Given the description of an element on the screen output the (x, y) to click on. 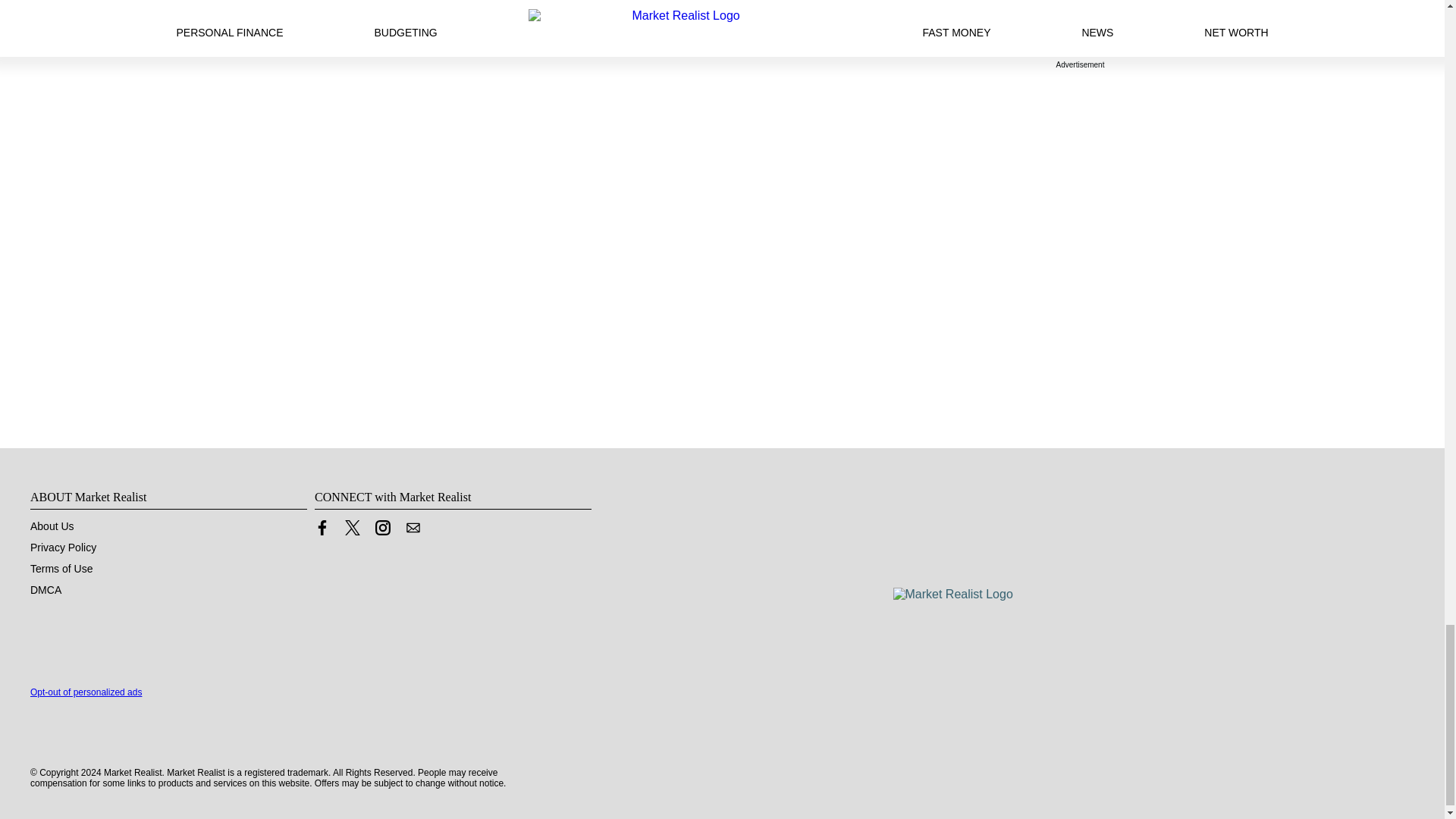
Link to Facebook (322, 527)
Terms of Use (61, 568)
Contact us by Email (413, 531)
Link to Facebook (322, 531)
Opt-out of personalized ads (85, 692)
Privacy Policy (63, 547)
About Us (52, 526)
DMCA (45, 589)
Link to X (352, 527)
Link to Instagram (382, 531)
Contact us by Email (413, 527)
Link to X (352, 531)
Privacy Policy (63, 547)
About Us (52, 526)
DMCA (45, 589)
